Given the description of an element on the screen output the (x, y) to click on. 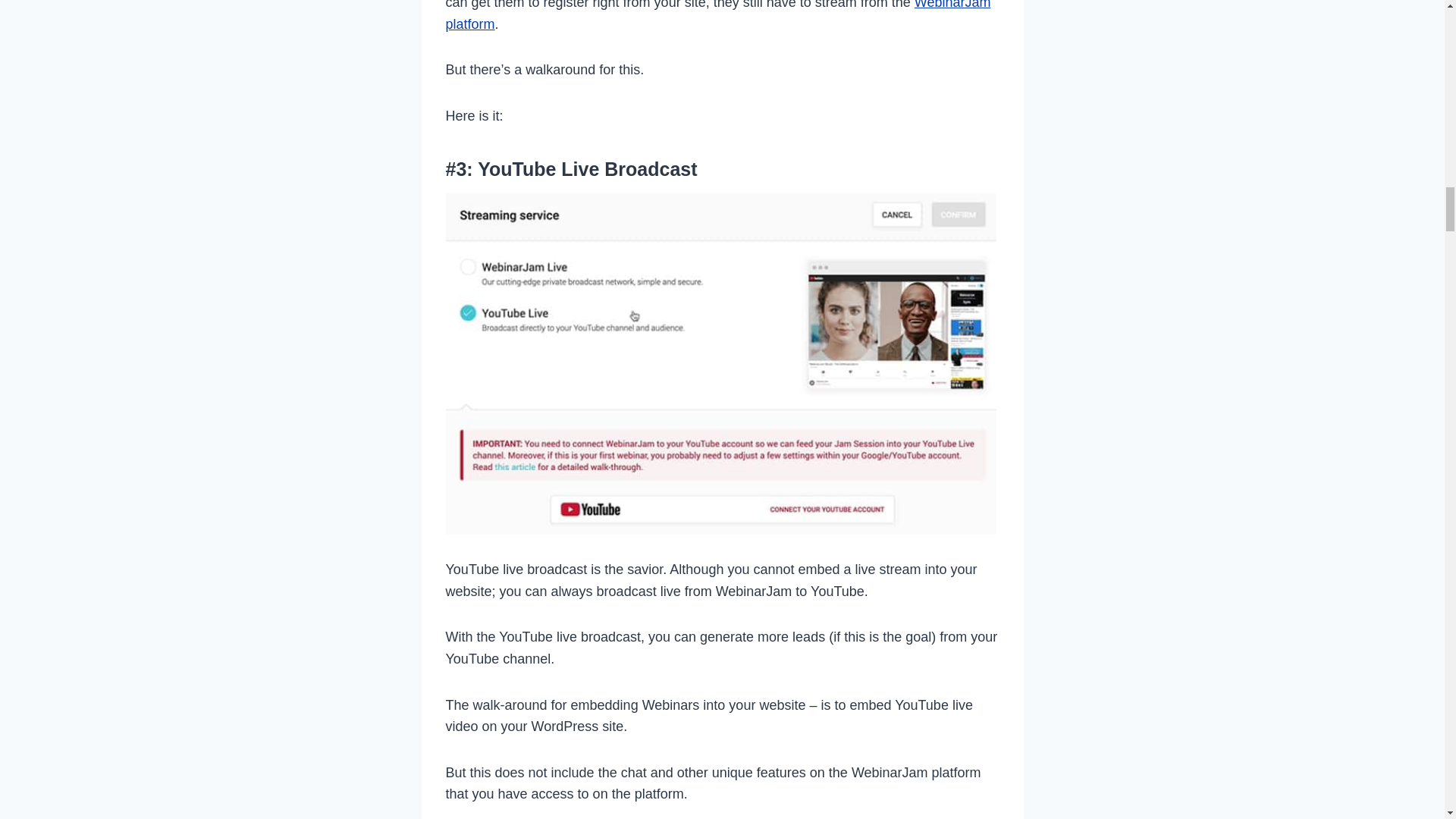
webinarjam (718, 15)
WebinarJam platform (718, 15)
